Given the description of an element on the screen output the (x, y) to click on. 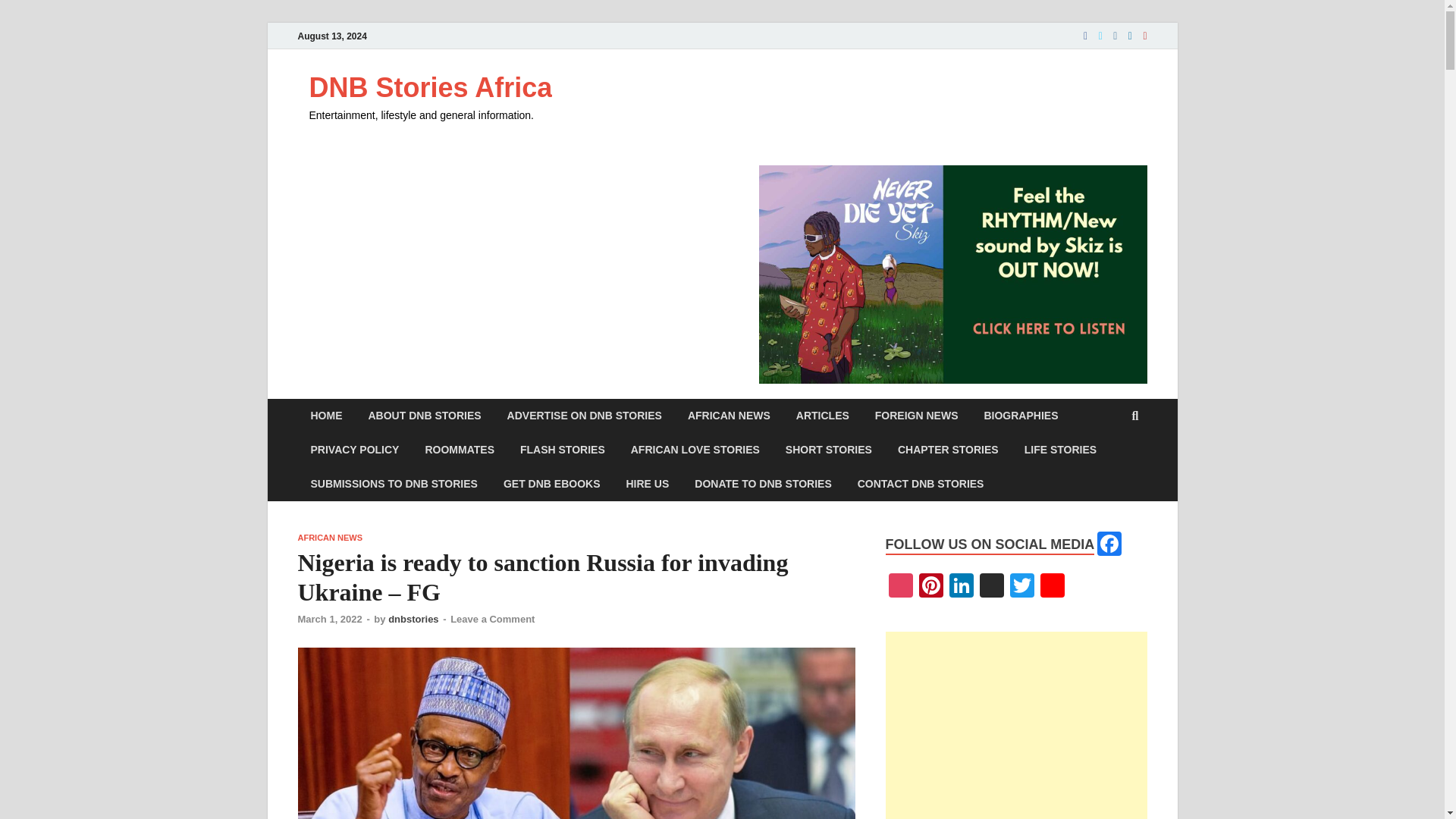
AFRICAN NEWS (329, 537)
ABOUT DNB STORIES (424, 415)
HOME (326, 415)
dnbstories (413, 618)
CHAPTER STORIES (948, 449)
LIFE STORIES (1060, 449)
HIRE US (646, 483)
SHORT STORIES (829, 449)
ADVERTISE ON DNB STORIES (585, 415)
DONATE TO DNB STORIES (762, 483)
